Given the description of an element on the screen output the (x, y) to click on. 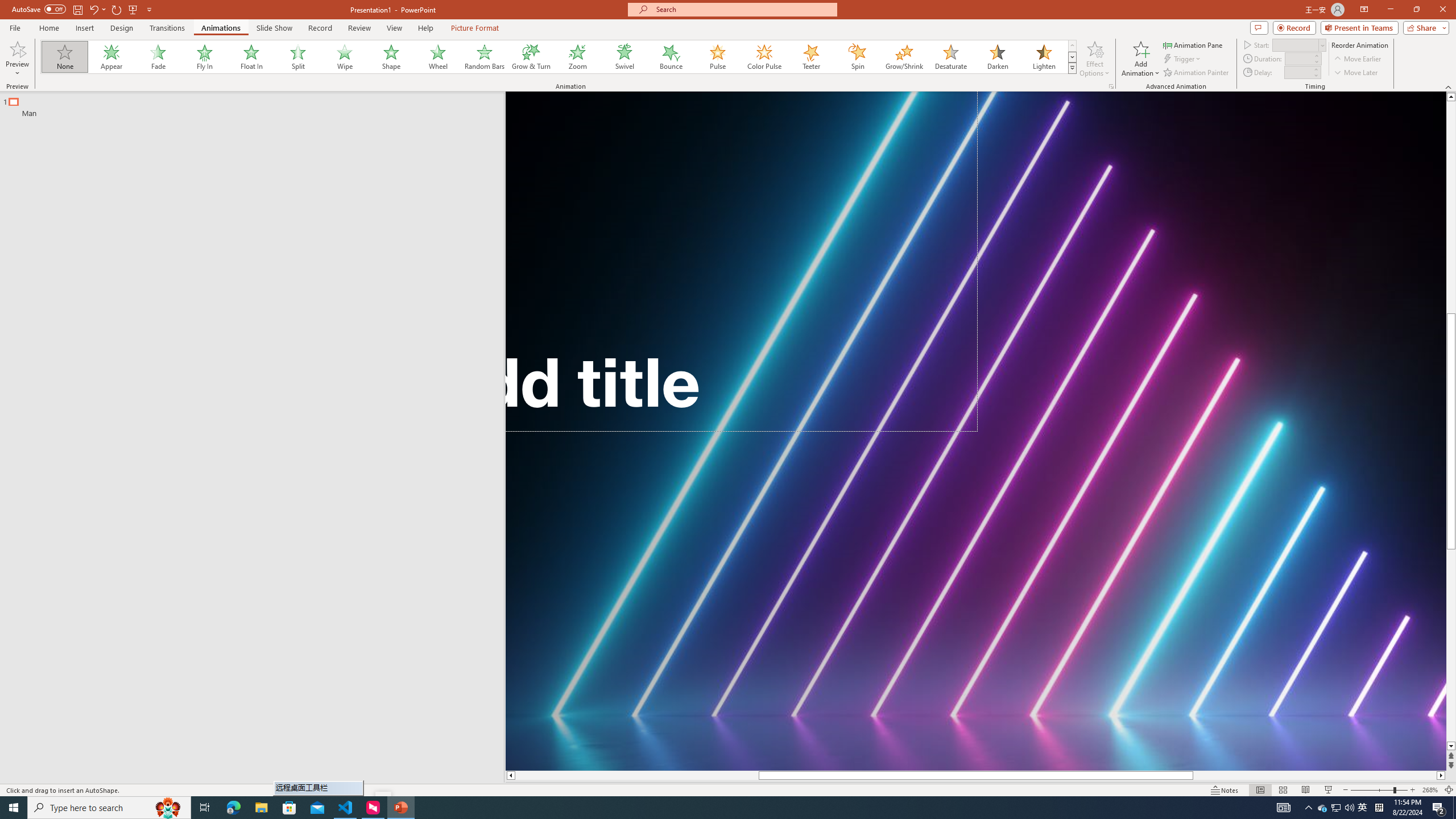
Trigger (1182, 58)
Color Pulse (764, 56)
Picture Format (475, 28)
